Given the description of an element on the screen output the (x, y) to click on. 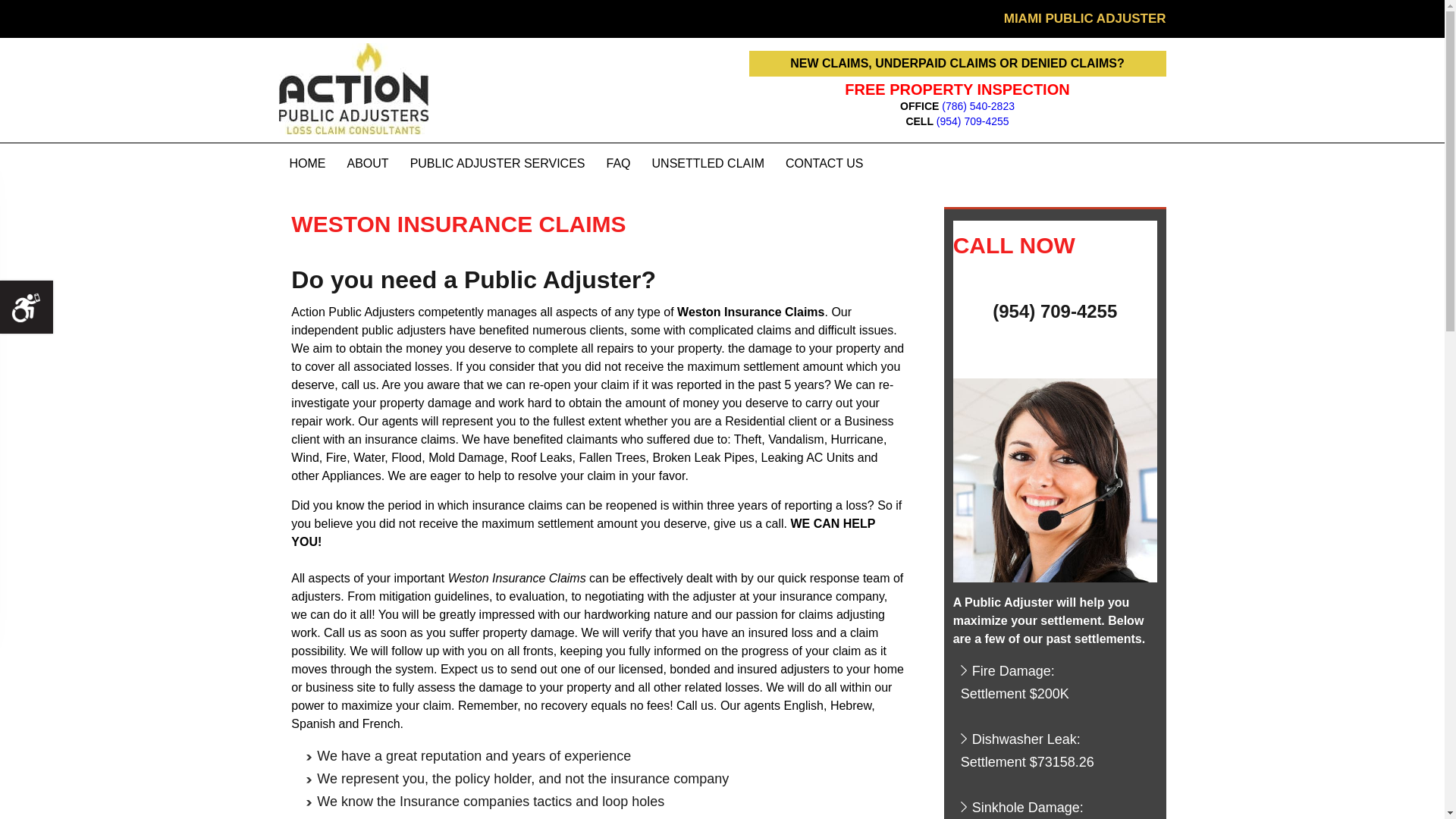
ABOUT (367, 163)
PUBLIC ADJUSTER SERVICES (496, 163)
CONTACT US (824, 163)
HOME (307, 163)
UNSETTLED CLAIM (708, 163)
FAQ (618, 163)
